Given the description of an element on the screen output the (x, y) to click on. 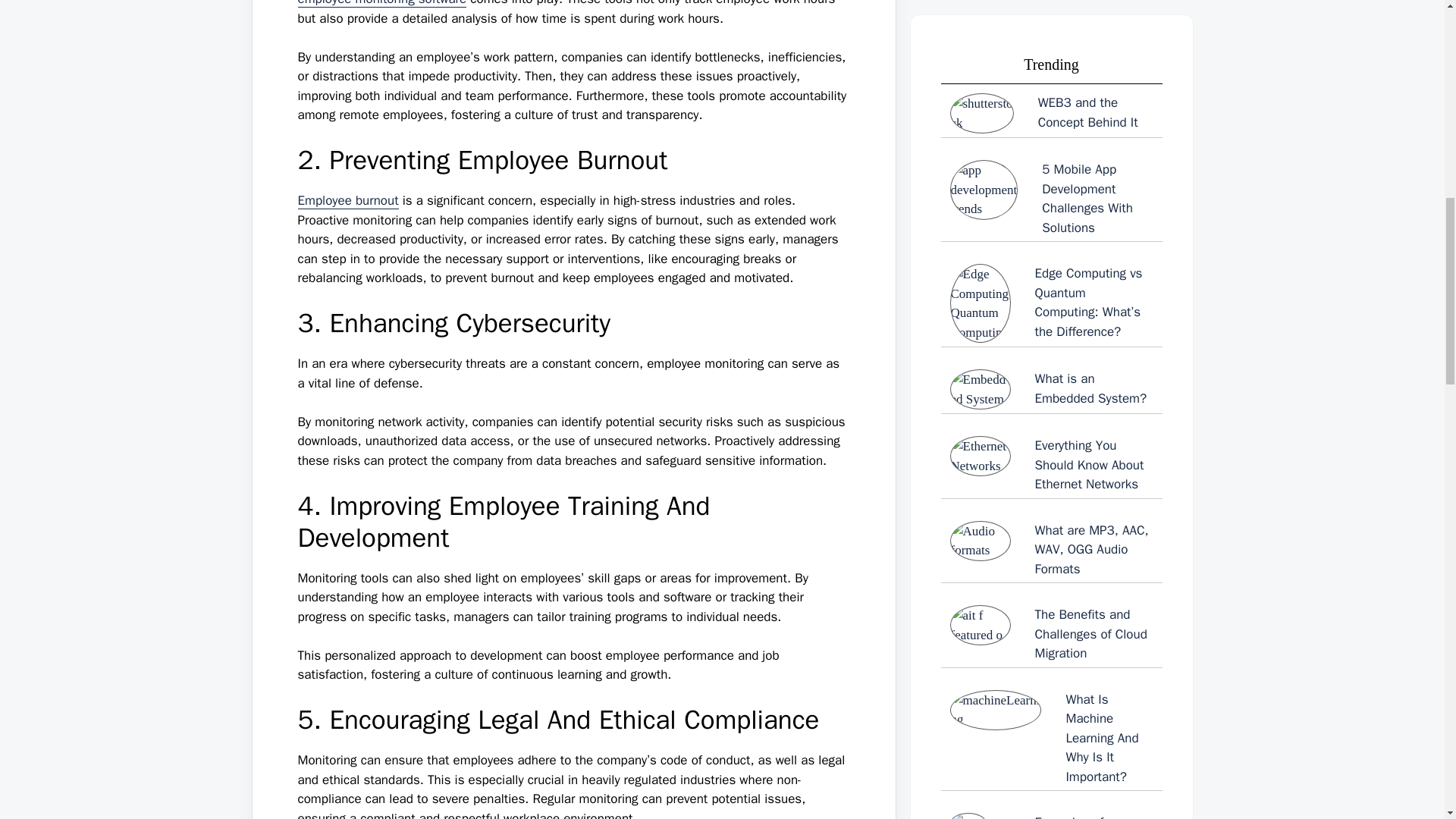
What is Ray Tracing Technology By Nvidia (1051, 151)
Employee burnout (347, 200)
What Is Machine Learning And Why Is It Important? (1051, 10)
remote employee monitoring software (559, 4)
